Given the description of an element on the screen output the (x, y) to click on. 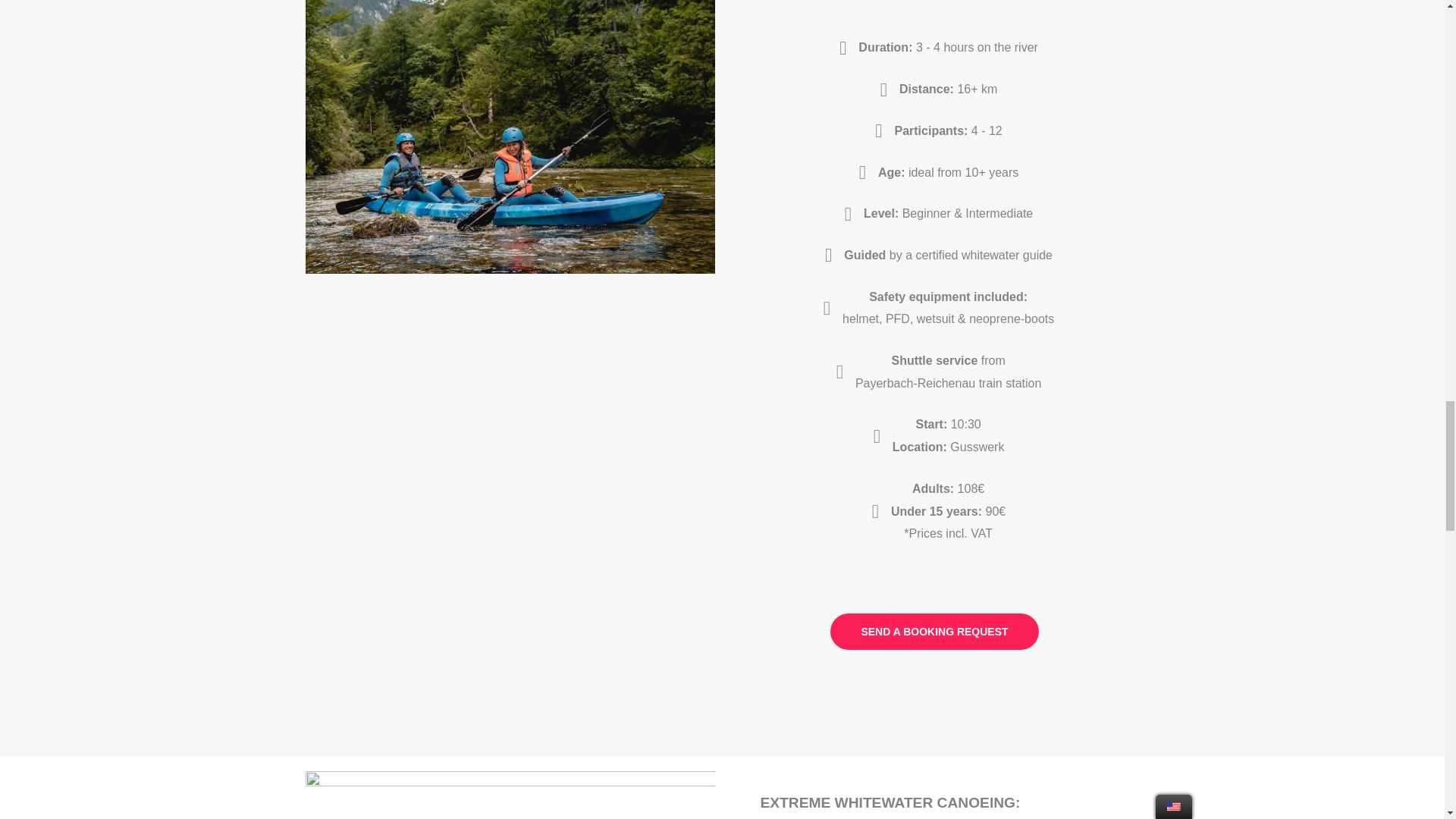
SEND A BOOKING REQUEST (933, 631)
